Given the description of an element on the screen output the (x, y) to click on. 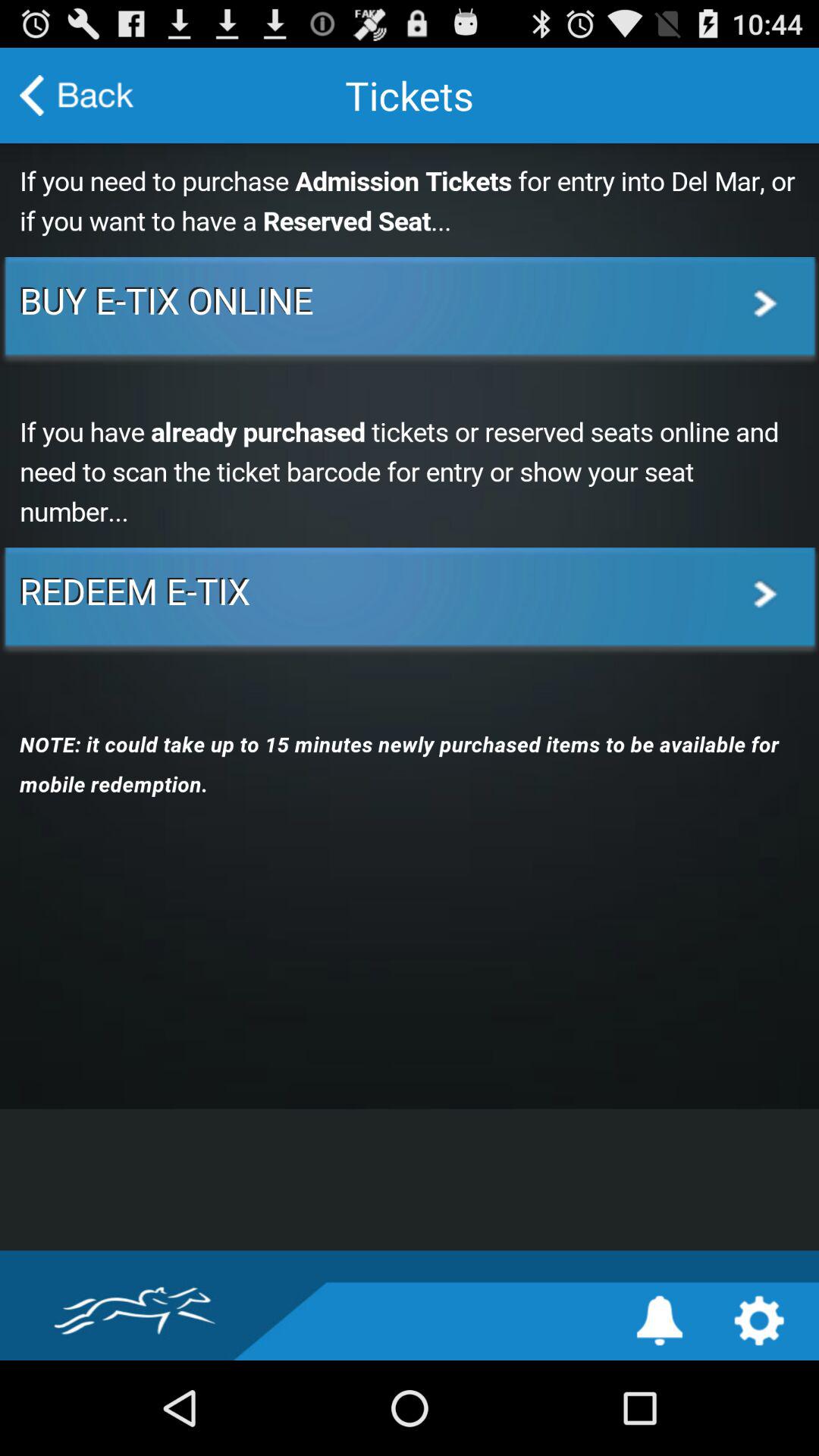
go to settings (759, 1320)
